Given the description of an element on the screen output the (x, y) to click on. 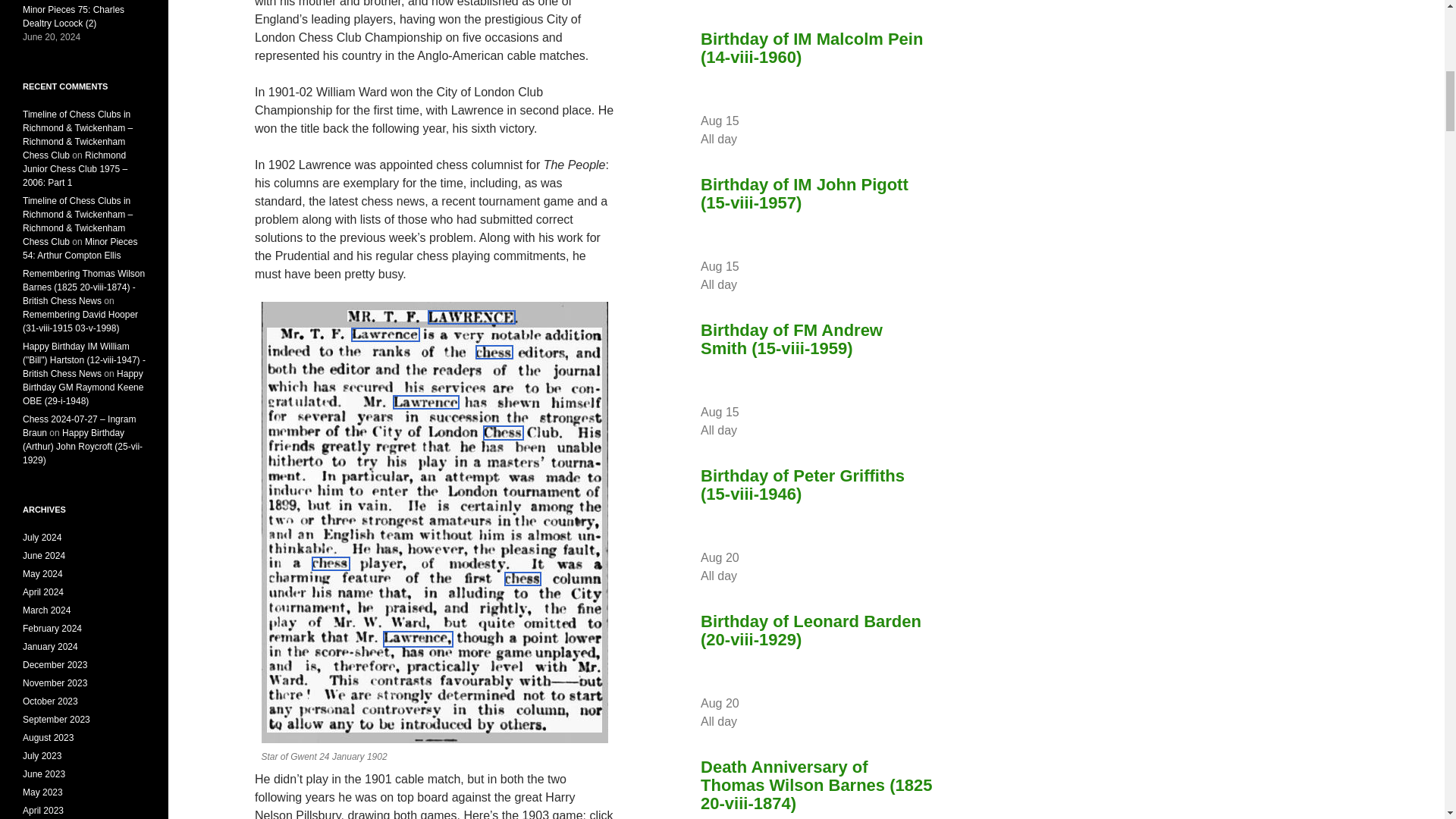
Event Series (745, 284)
Event Series (745, 574)
Event Series (745, 429)
Event Series (745, 720)
Event Series (745, 138)
